Given the description of an element on the screen output the (x, y) to click on. 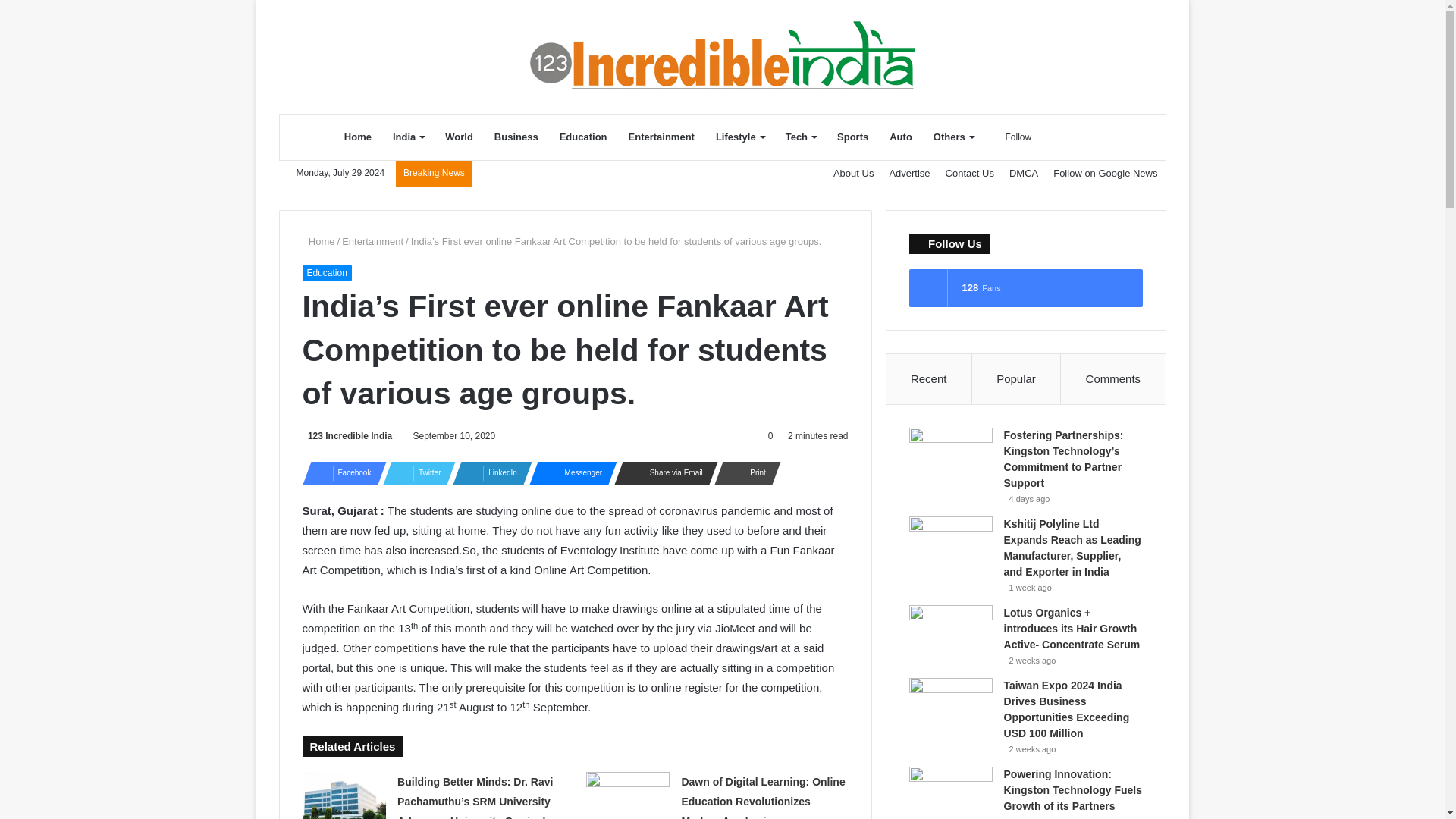
World (458, 136)
123 Incredible India (346, 435)
Auto (901, 136)
Lifestyle (739, 136)
Share via Email (661, 472)
Print (742, 472)
Sports (853, 136)
Others (953, 136)
Facebook (339, 472)
Tech (800, 136)
LinkedIn (487, 472)
Follow (1013, 136)
Business (515, 136)
India (407, 136)
Home (357, 136)
